Given the description of an element on the screen output the (x, y) to click on. 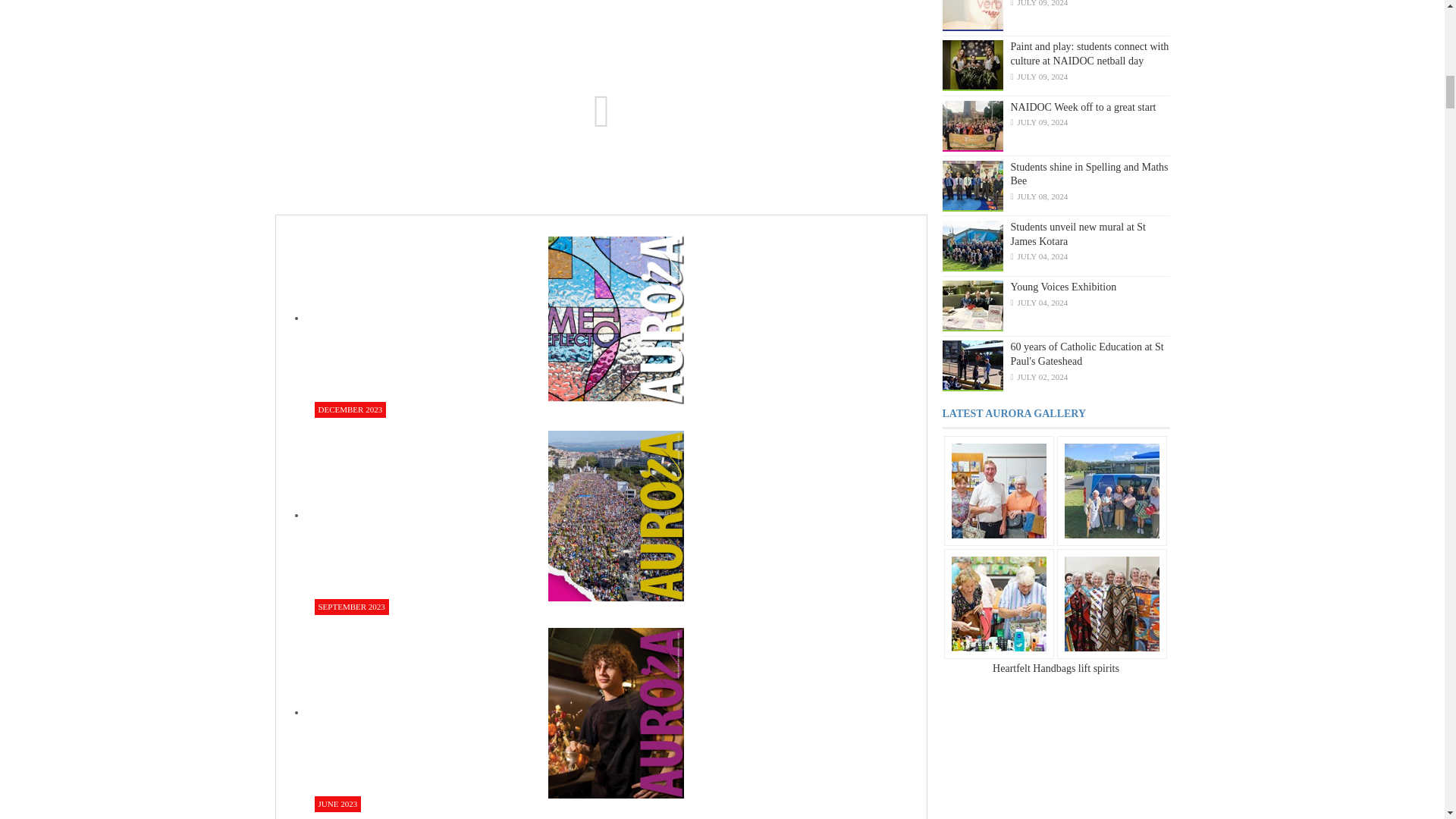
Aurora Magazine December 2023 (615, 317)
